Given the description of an element on the screen output the (x, y) to click on. 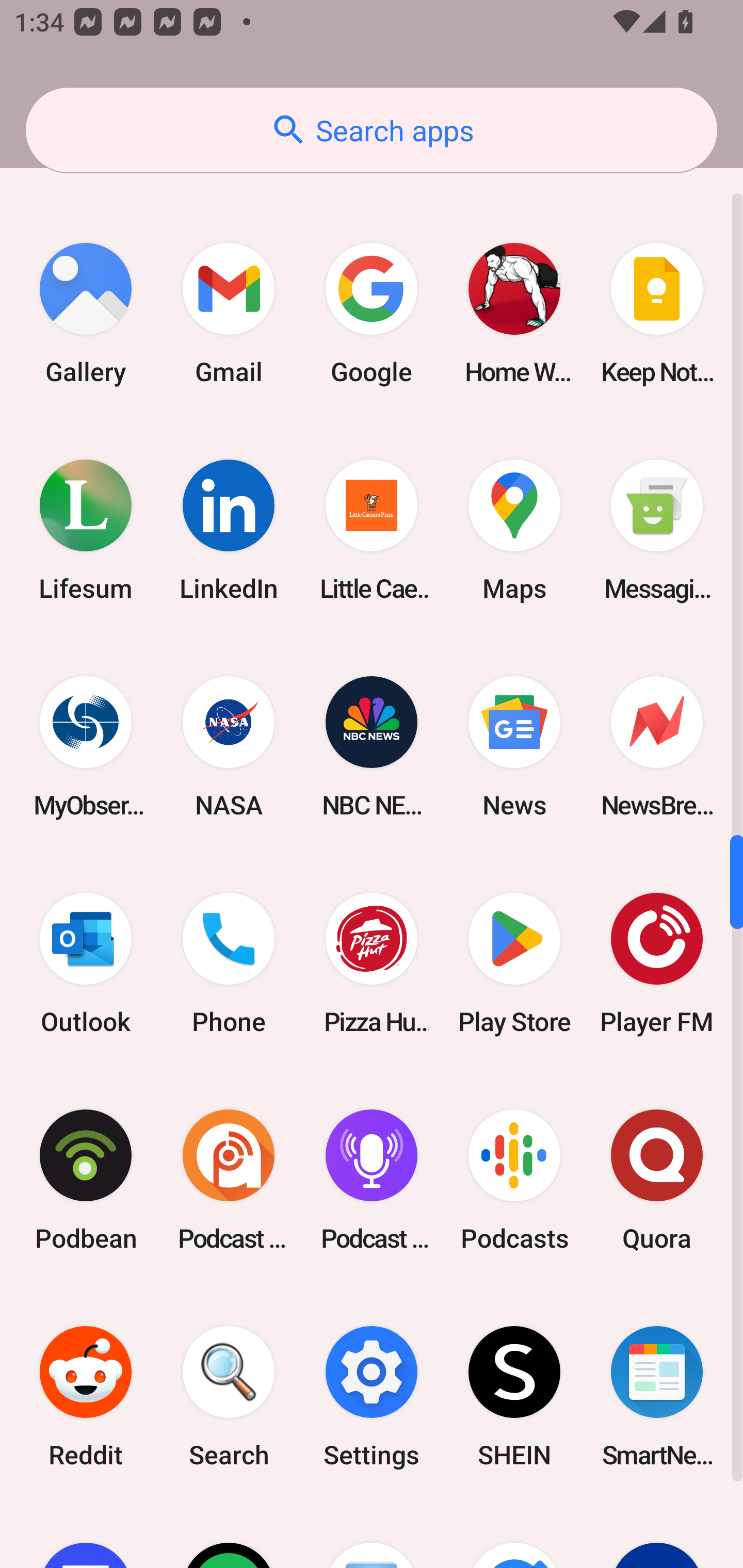
  Search apps (371, 130)
Gallery (85, 313)
Gmail (228, 313)
Google (371, 313)
Home Workout (514, 313)
Keep Notes (656, 313)
Lifesum (85, 529)
LinkedIn (228, 529)
Little Caesars Pizza (371, 529)
Maps (514, 529)
Messaging (656, 529)
MyObservatory (85, 746)
NASA (228, 746)
NBC NEWS (371, 746)
News (514, 746)
NewsBreak (656, 746)
Outlook (85, 963)
Phone (228, 963)
Pizza Hut HK & Macau (371, 963)
Play Store (514, 963)
Player FM (656, 963)
Podbean (85, 1180)
Podcast Addict (228, 1180)
Podcast Player (371, 1180)
Podcasts (514, 1180)
Quora (656, 1180)
Reddit (85, 1396)
Search (228, 1396)
Settings (371, 1396)
SHEIN (514, 1396)
SmartNews (656, 1396)
